Given the description of an element on the screen output the (x, y) to click on. 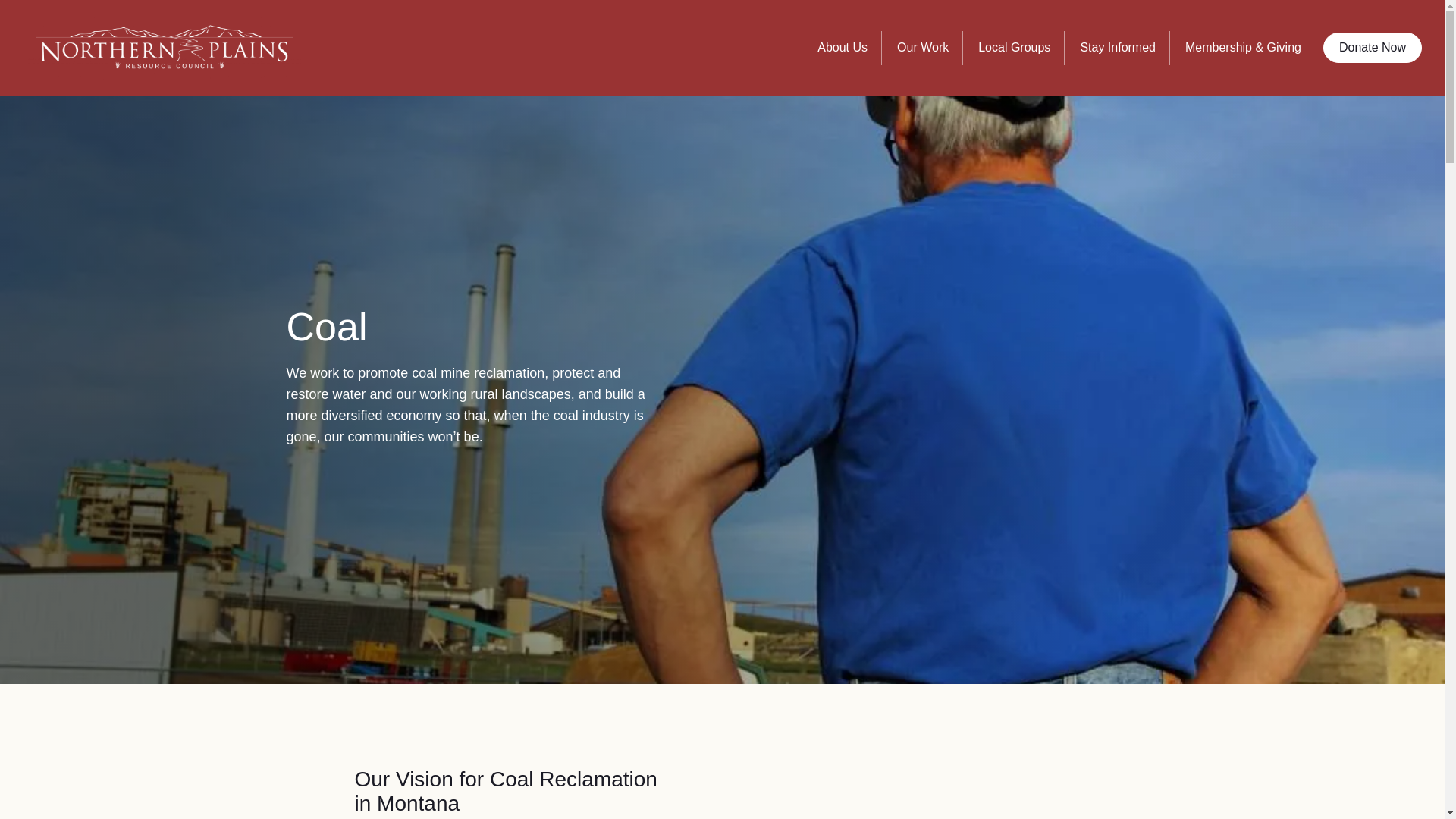
Stay Informed (1120, 57)
Local Groups (1017, 57)
About Us (845, 57)
Our Work (925, 57)
